Given the description of an element on the screen output the (x, y) to click on. 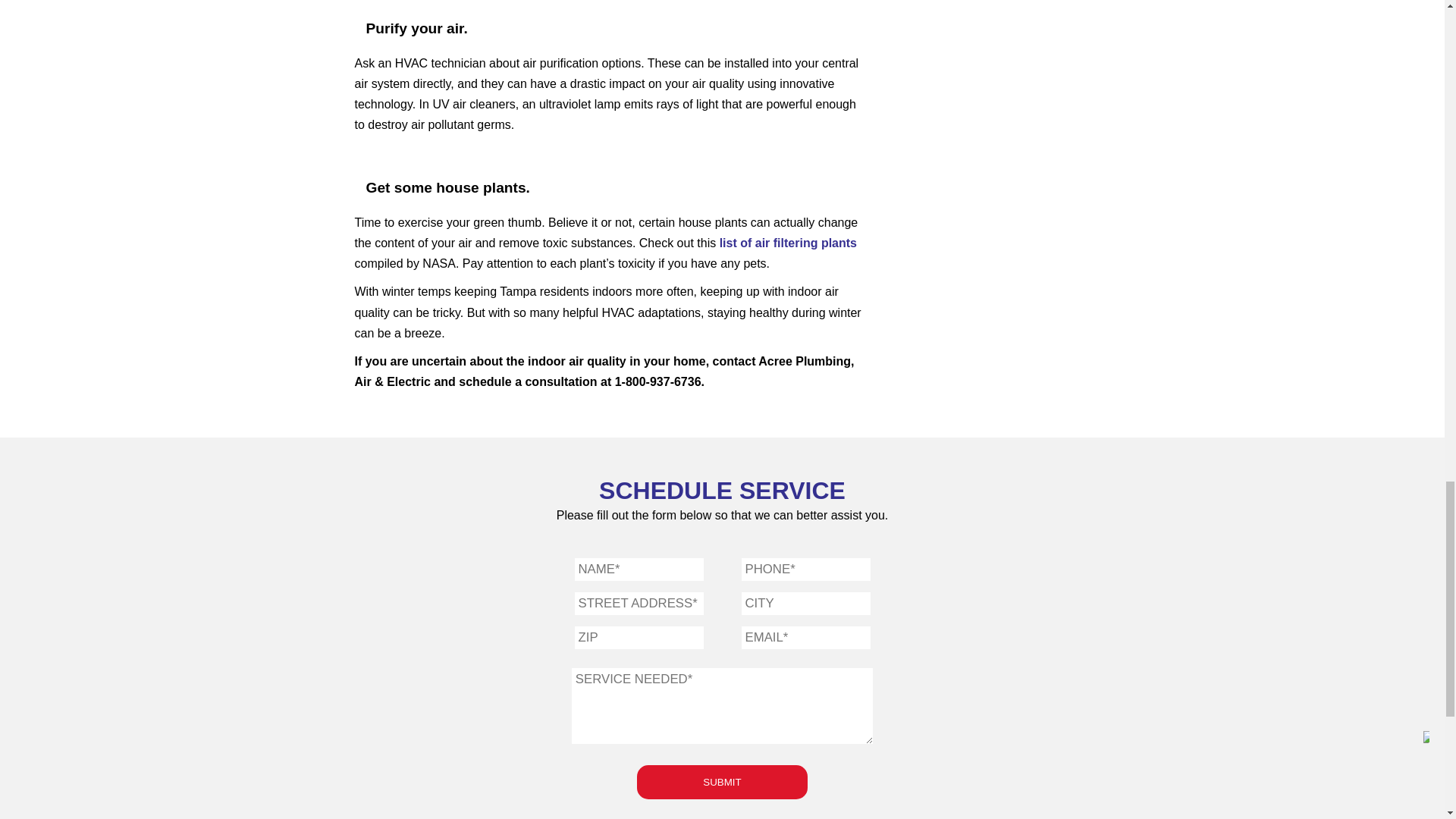
SUBMIT (722, 781)
